Given the description of an element on the screen output the (x, y) to click on. 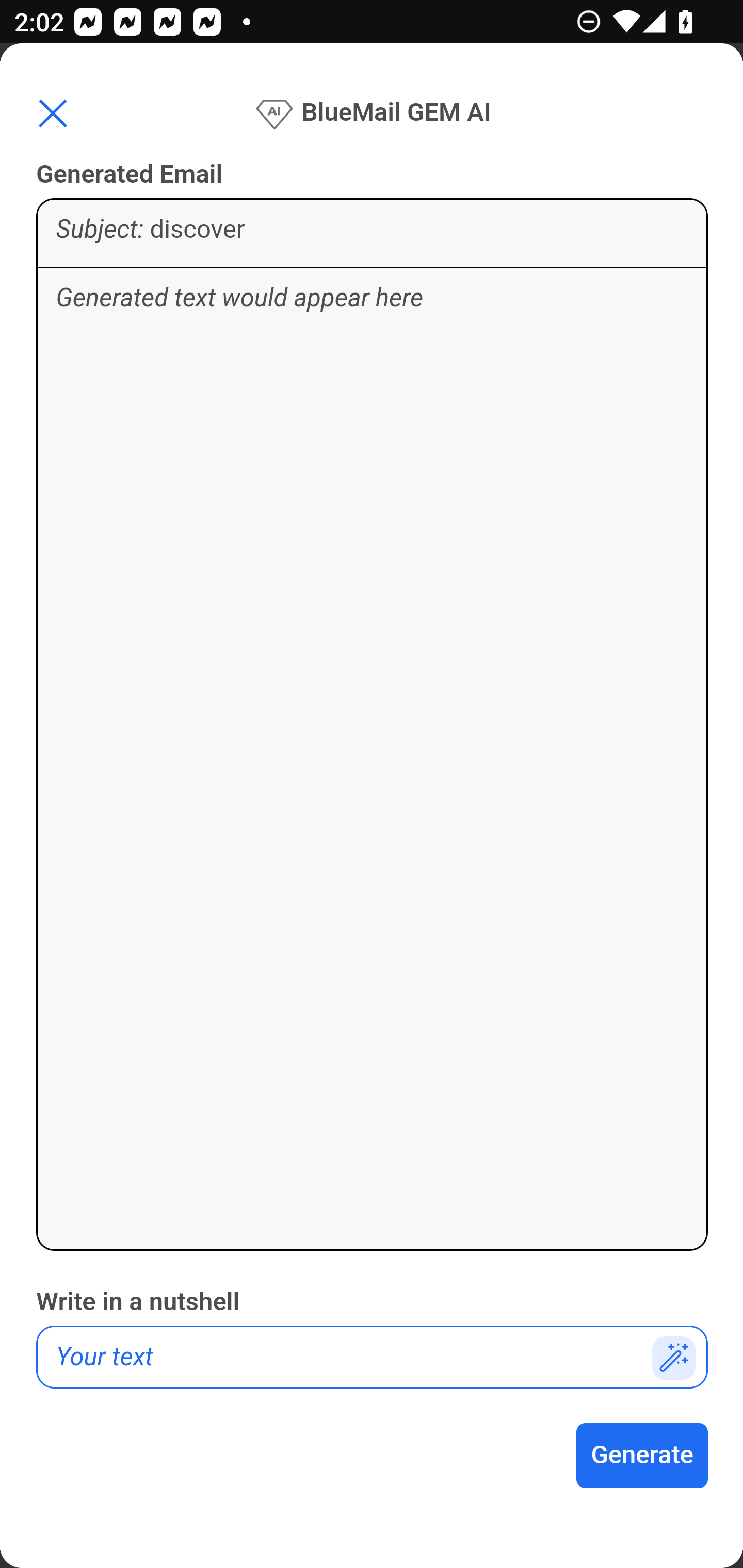
Generate (642, 1455)
